Given the description of an element on the screen output the (x, y) to click on. 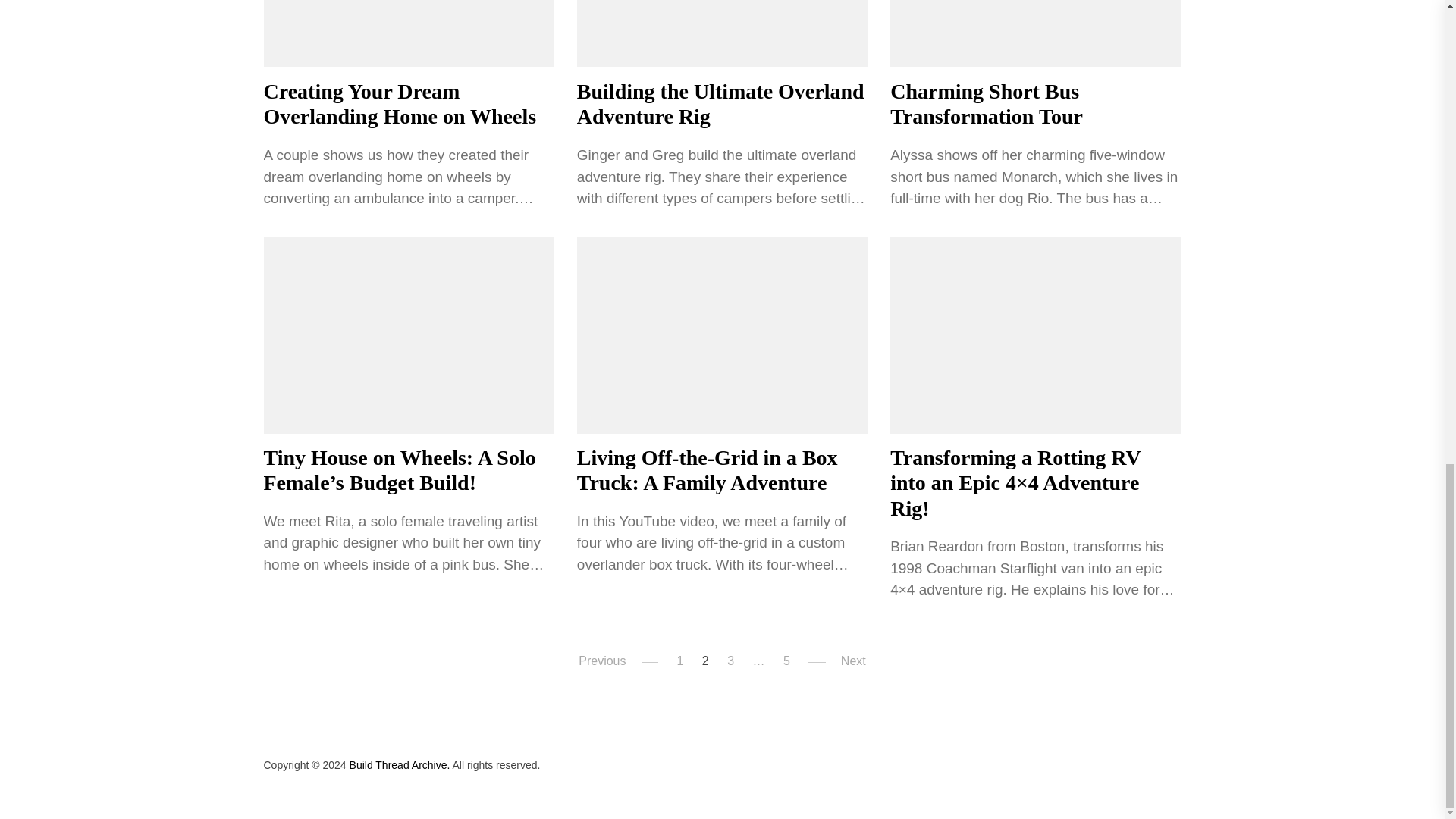
Creating Your Dream Overlanding Home on Wheels (400, 103)
Building the Ultimate Overland Adventure Rig (720, 103)
Charming Short Bus Transformation Tour (986, 103)
